Given the description of an element on the screen output the (x, y) to click on. 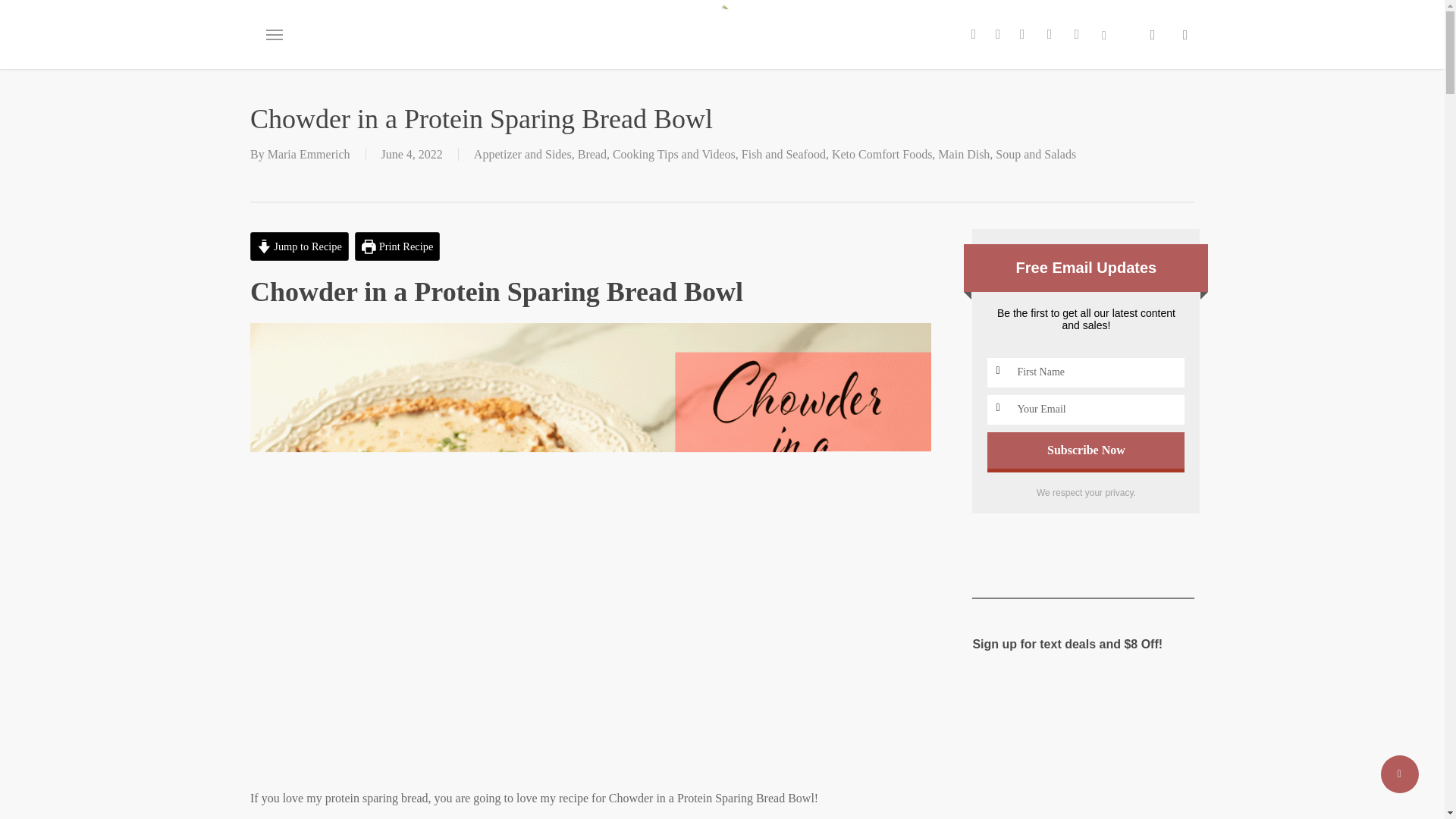
search (1151, 34)
Keto Comfort Foods (881, 154)
youtube (1048, 33)
facebook (998, 33)
Appetizer and Sides (523, 154)
Print Recipe (397, 246)
Maria Emmerich (308, 154)
pinterest (1022, 33)
Main Dish (963, 154)
Bread (592, 154)
